Given the description of an element on the screen output the (x, y) to click on. 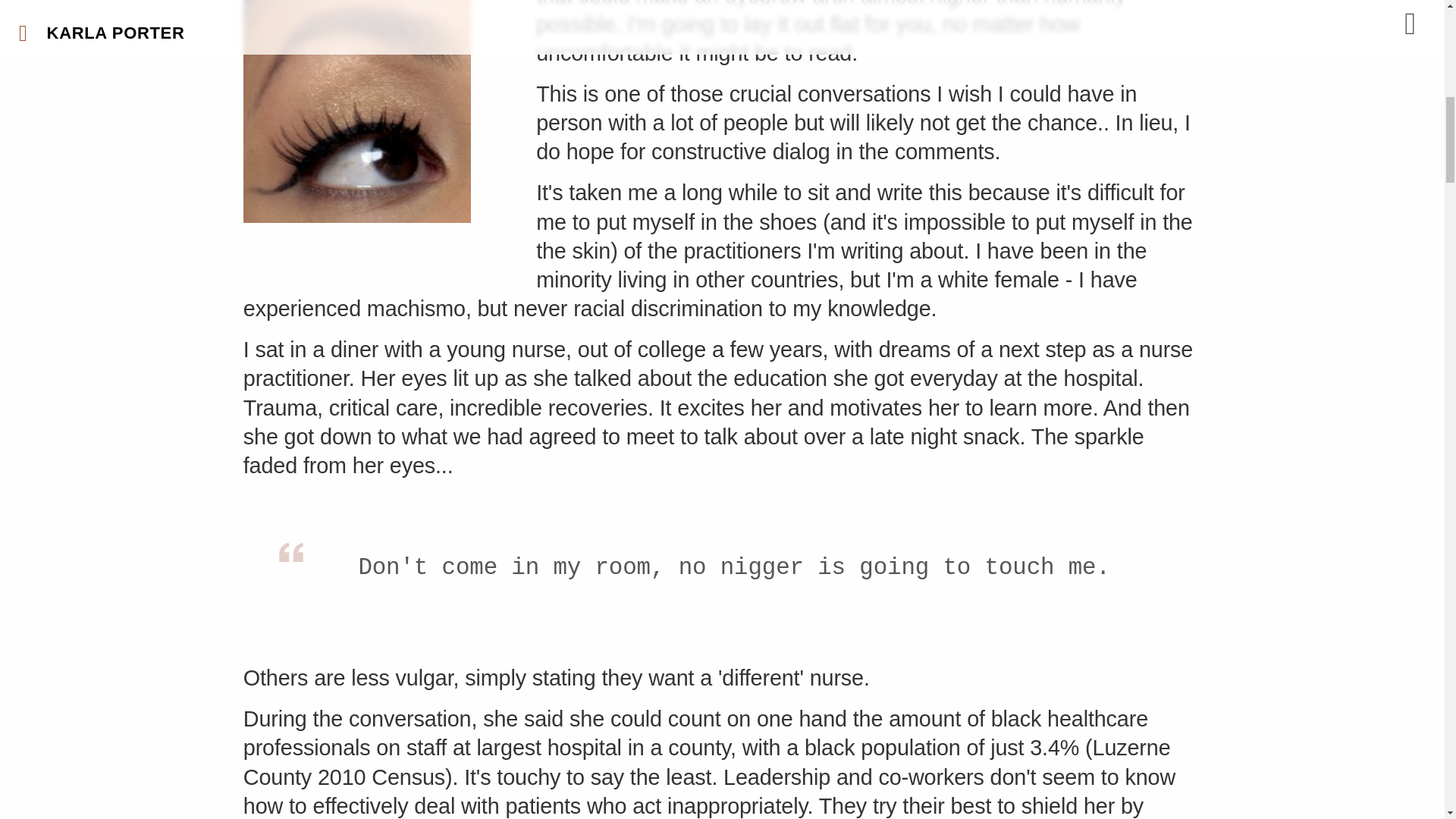
eyebrow (356, 111)
